Given the description of an element on the screen output the (x, y) to click on. 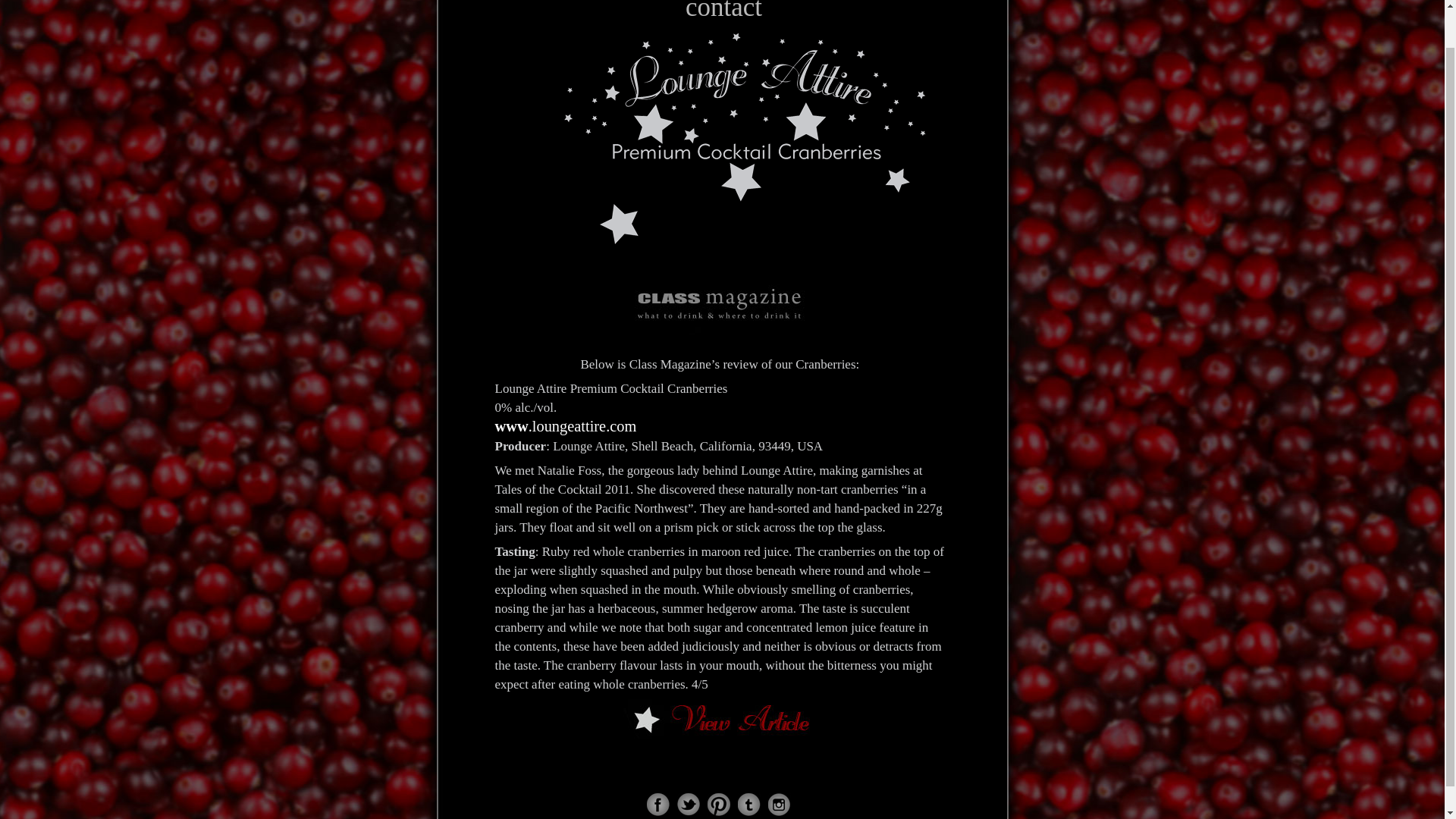
press-classmagazine (719, 291)
www.loungeattire.com (565, 425)
contact (723, 11)
viewarticle (718, 718)
